Given the description of an element on the screen output the (x, y) to click on. 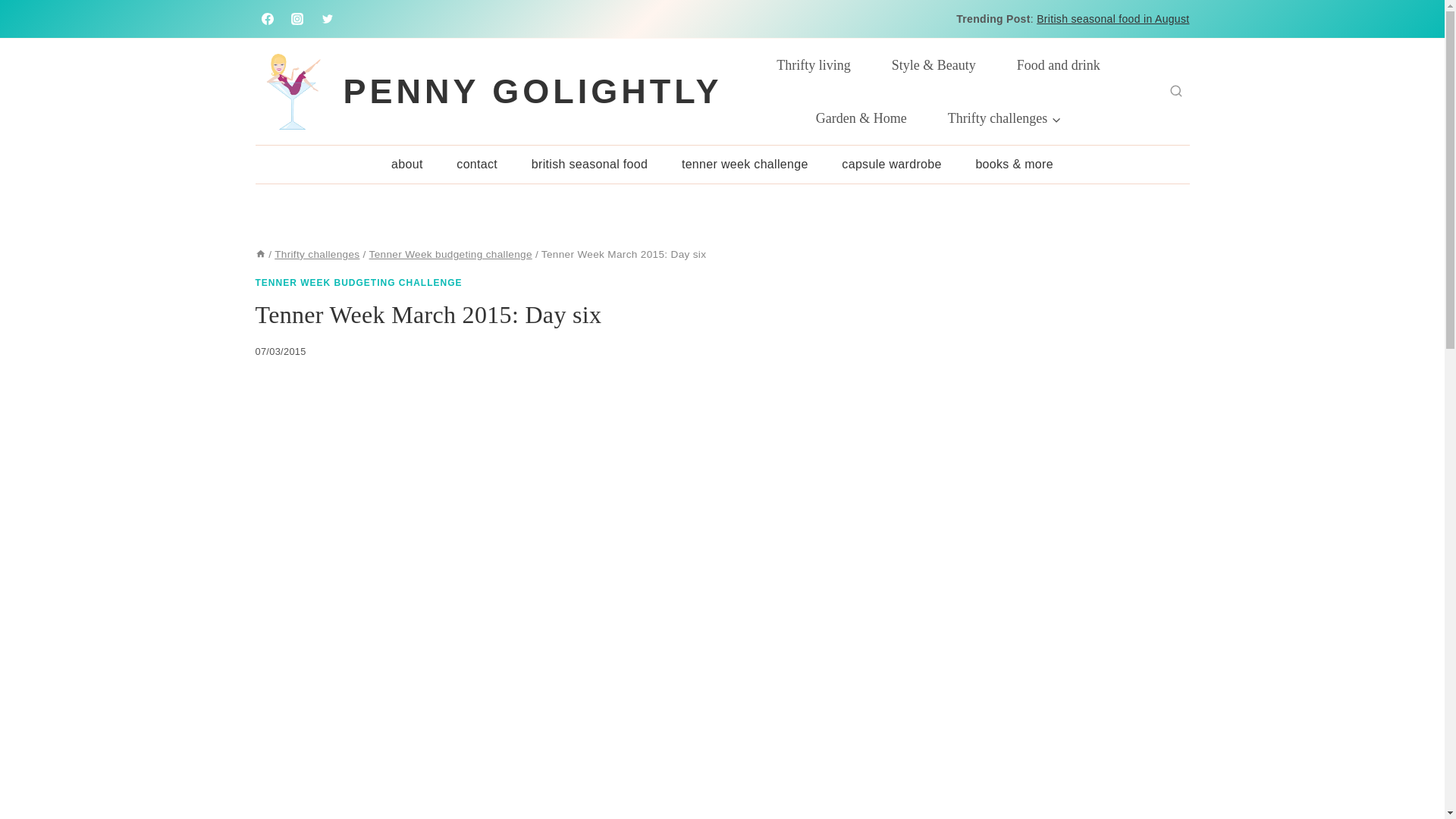
TENNER WEEK BUDGETING CHALLENGE (357, 282)
british seasonal food (588, 164)
Home (259, 254)
Thrifty living (812, 64)
Tenner Week budgeting challenge (450, 254)
British seasonal food in August (1112, 19)
Thrifty challenges (1004, 117)
PENNY GOLIGHTLY (488, 91)
capsule wardrobe (891, 164)
Food and drink (1058, 64)
